Given the description of an element on the screen output the (x, y) to click on. 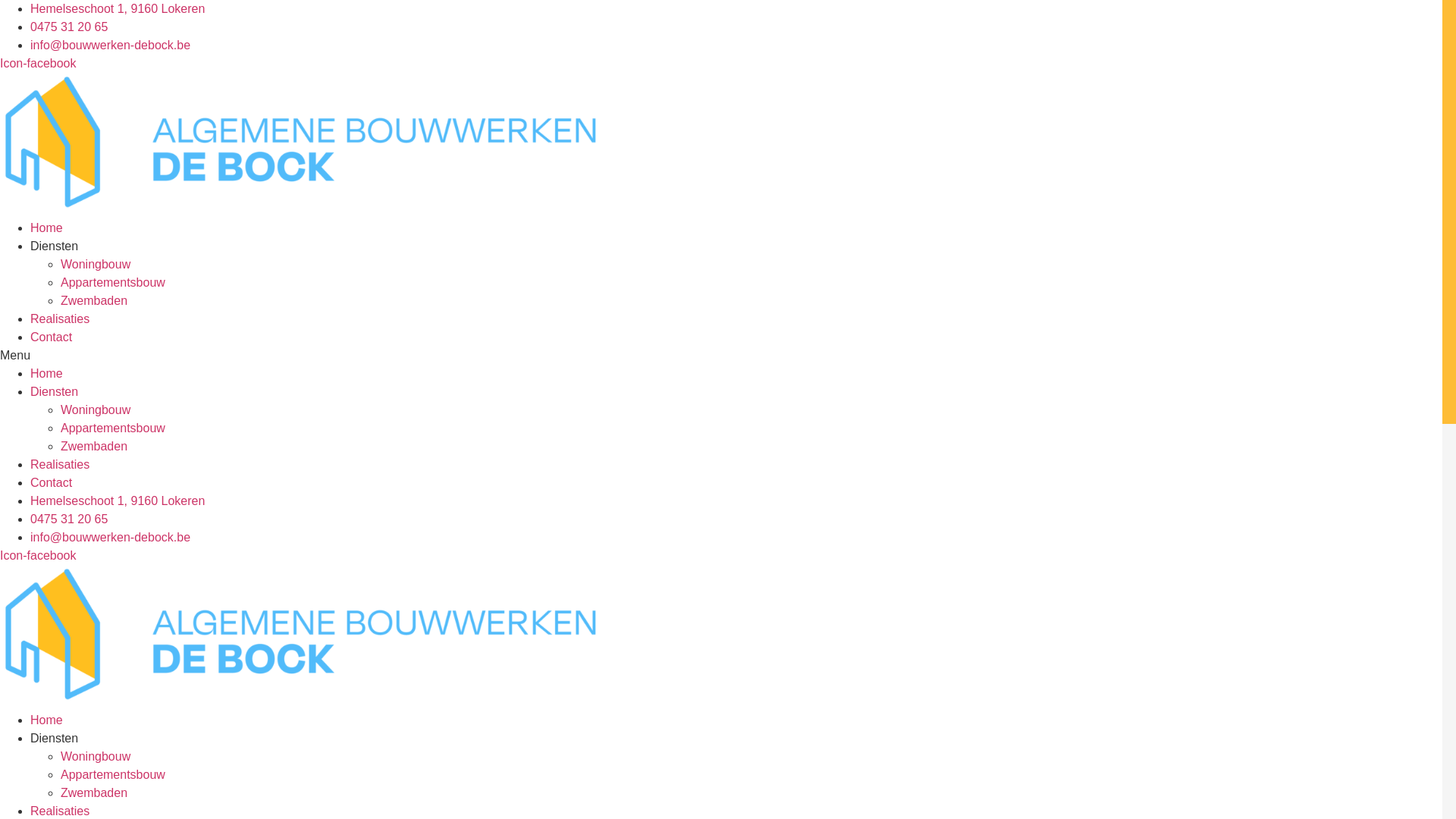
Realisaties Element type: text (59, 810)
Appartementsbouw Element type: text (112, 427)
info@bouwwerken-debock.be Element type: text (110, 44)
Icon-facebook Element type: text (38, 62)
Home Element type: text (46, 373)
Icon-facebook Element type: text (38, 555)
Contact Element type: text (51, 336)
Appartementsbouw Element type: text (112, 282)
Zwembaden Element type: text (93, 792)
Zwembaden Element type: text (93, 300)
Woningbouw Element type: text (95, 755)
0475 31 20 65 Element type: text (68, 26)
0475 31 20 65 Element type: text (68, 518)
Woningbouw Element type: text (95, 409)
Diensten Element type: text (54, 245)
info@bouwwerken-debock.be Element type: text (110, 536)
Realisaties Element type: text (59, 318)
Diensten Element type: text (54, 737)
Diensten Element type: text (54, 391)
Woningbouw Element type: text (95, 263)
Home Element type: text (46, 719)
Home Element type: text (46, 227)
Hemelseschoot 1, 9160 Lokeren Element type: text (117, 8)
Hemelseschoot 1, 9160 Lokeren Element type: text (117, 500)
Appartementsbouw Element type: text (112, 774)
Zwembaden Element type: text (93, 445)
Contact Element type: text (51, 482)
Realisaties Element type: text (59, 464)
